Given the description of an element on the screen output the (x, y) to click on. 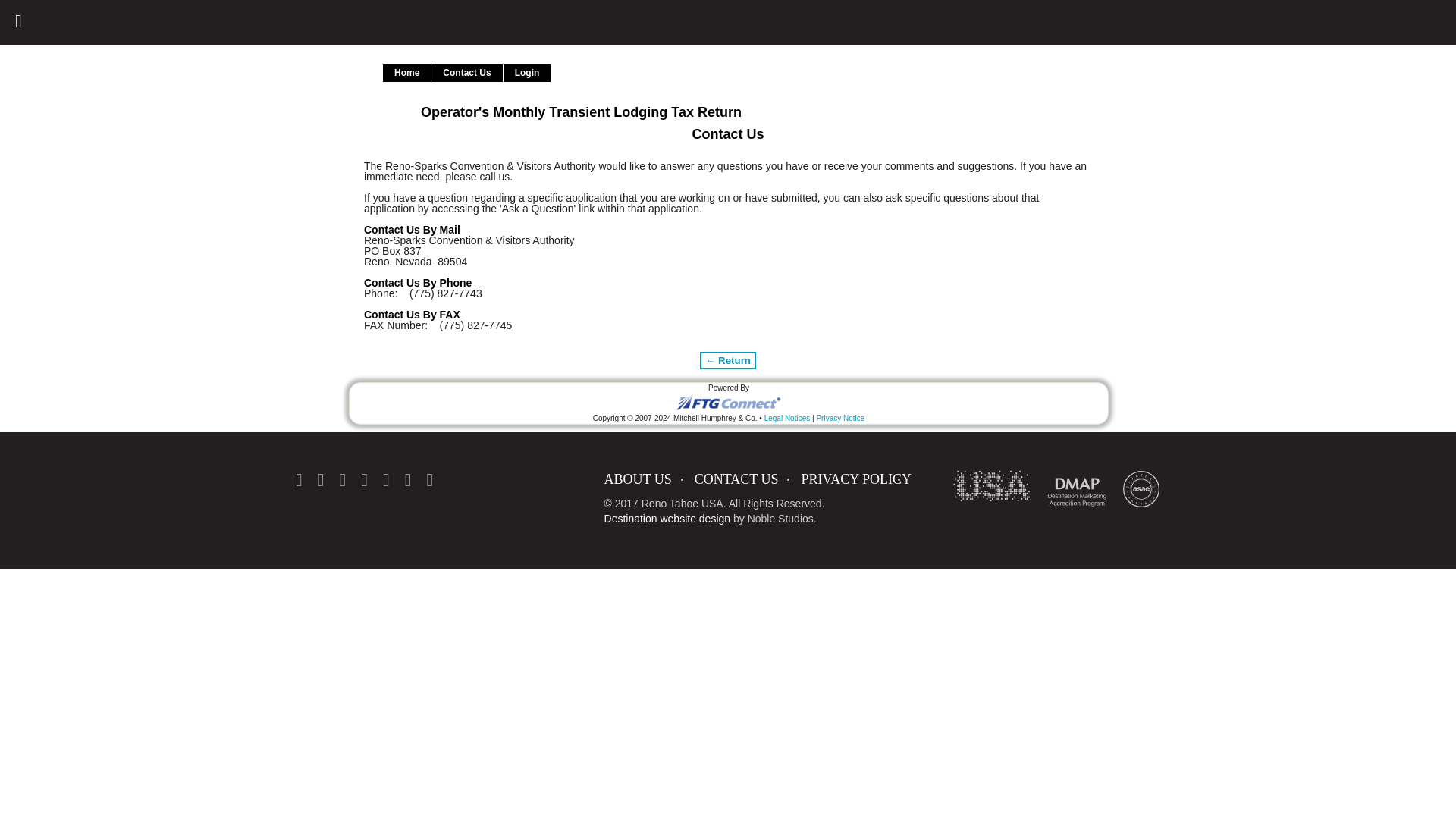
Legal Notices (787, 418)
Artboard 1 (1141, 488)
PRIVACY POLICY (855, 479)
Contact Us (466, 72)
Destination website design (667, 518)
CONTACT US (748, 479)
Home (405, 72)
ABOUT US (649, 479)
Privacy Notice (839, 418)
Login (527, 72)
